Given the description of an element on the screen output the (x, y) to click on. 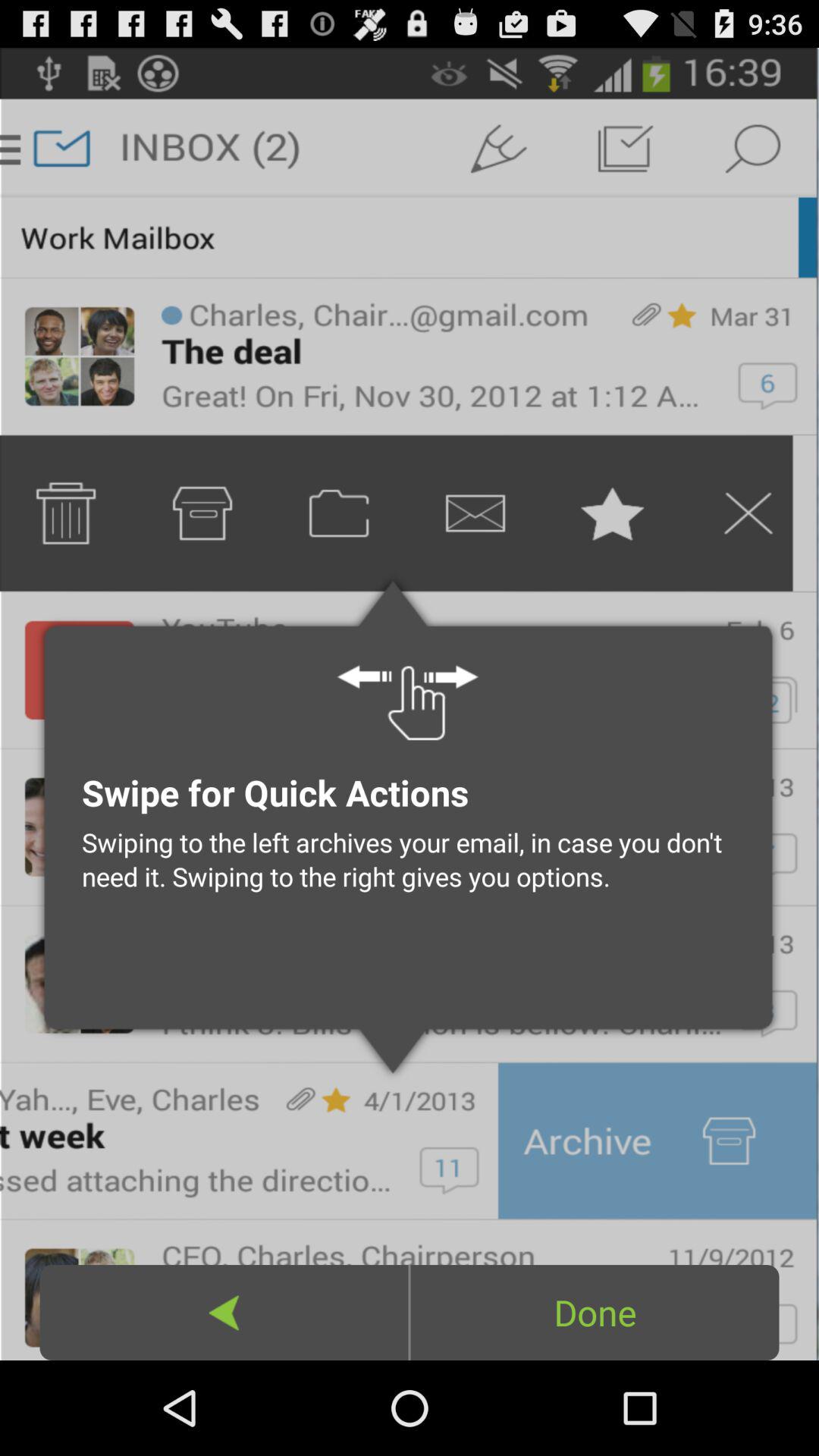
launch the icon below the swiping to the icon (223, 1312)
